Given the description of an element on the screen output the (x, y) to click on. 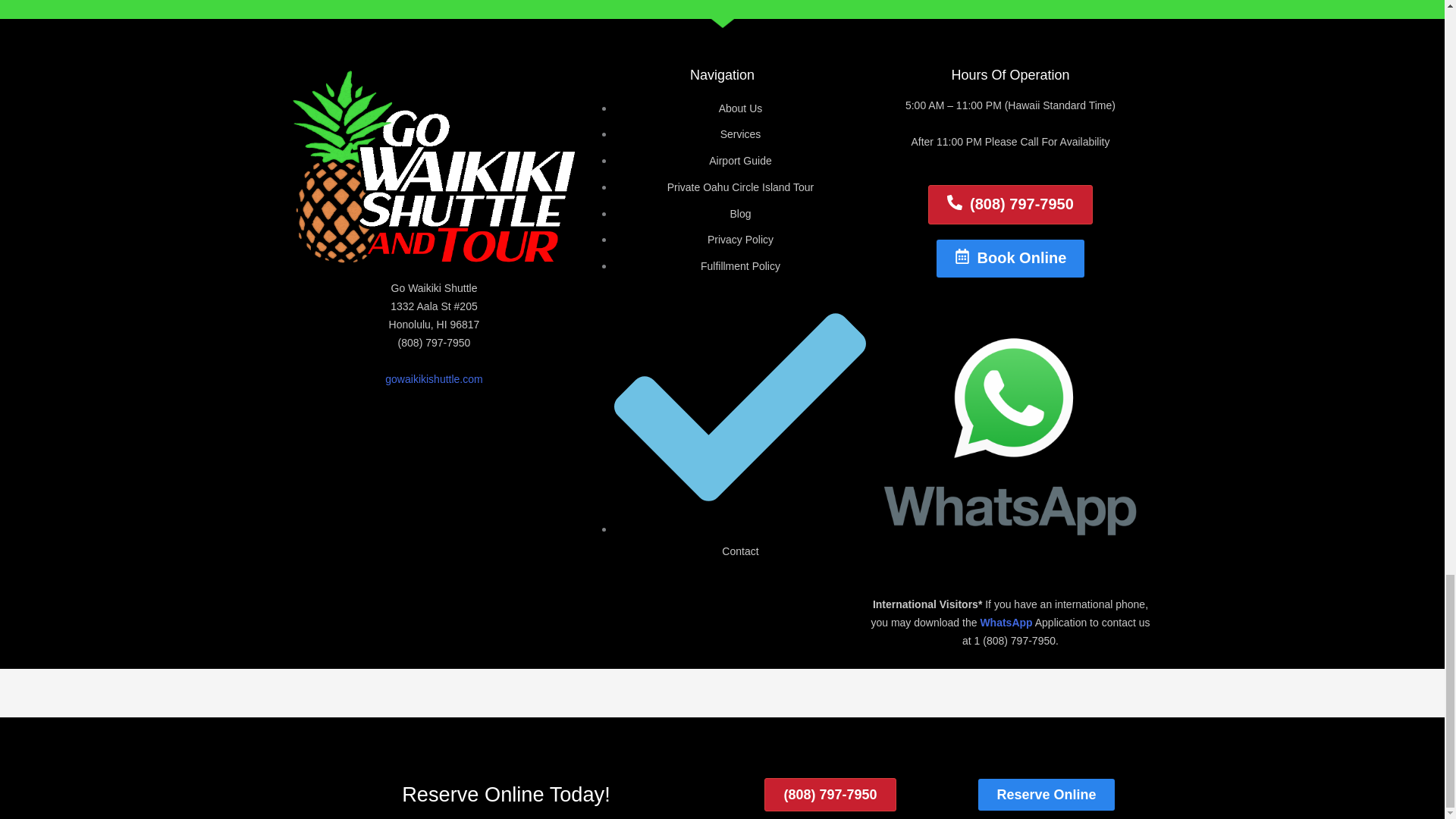
Contact (740, 540)
Airport Guide (740, 160)
Blog (740, 214)
Book Online (1010, 258)
About Us (740, 108)
Private Oahu Circle Island Tour (739, 186)
Privacy Policy (740, 239)
Services (740, 133)
WhatsApp (1005, 622)
Fulfillment Policy (740, 265)
